Given the description of an element on the screen output the (x, y) to click on. 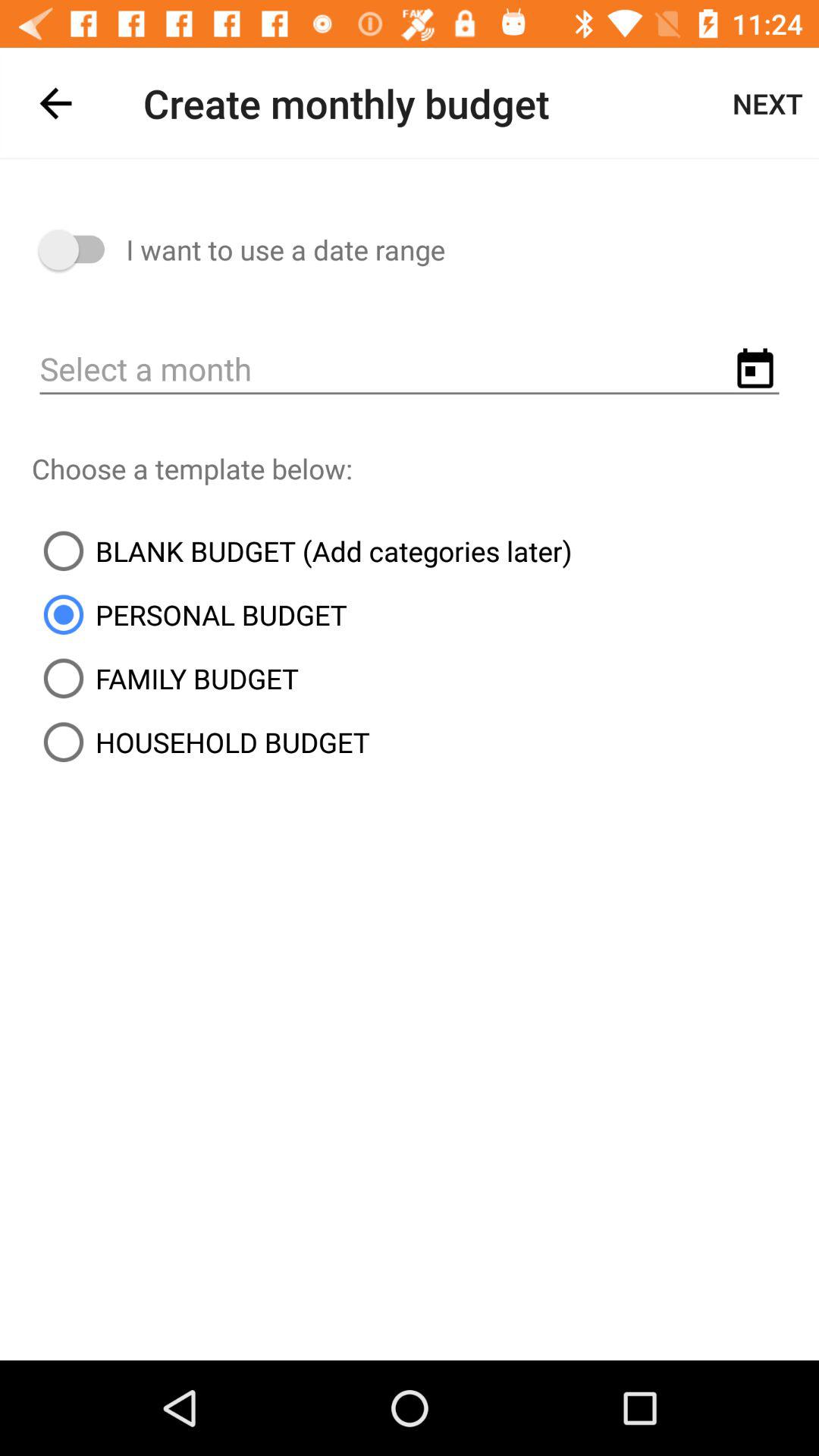
turn off the item above family budget (188, 614)
